Given the description of an element on the screen output the (x, y) to click on. 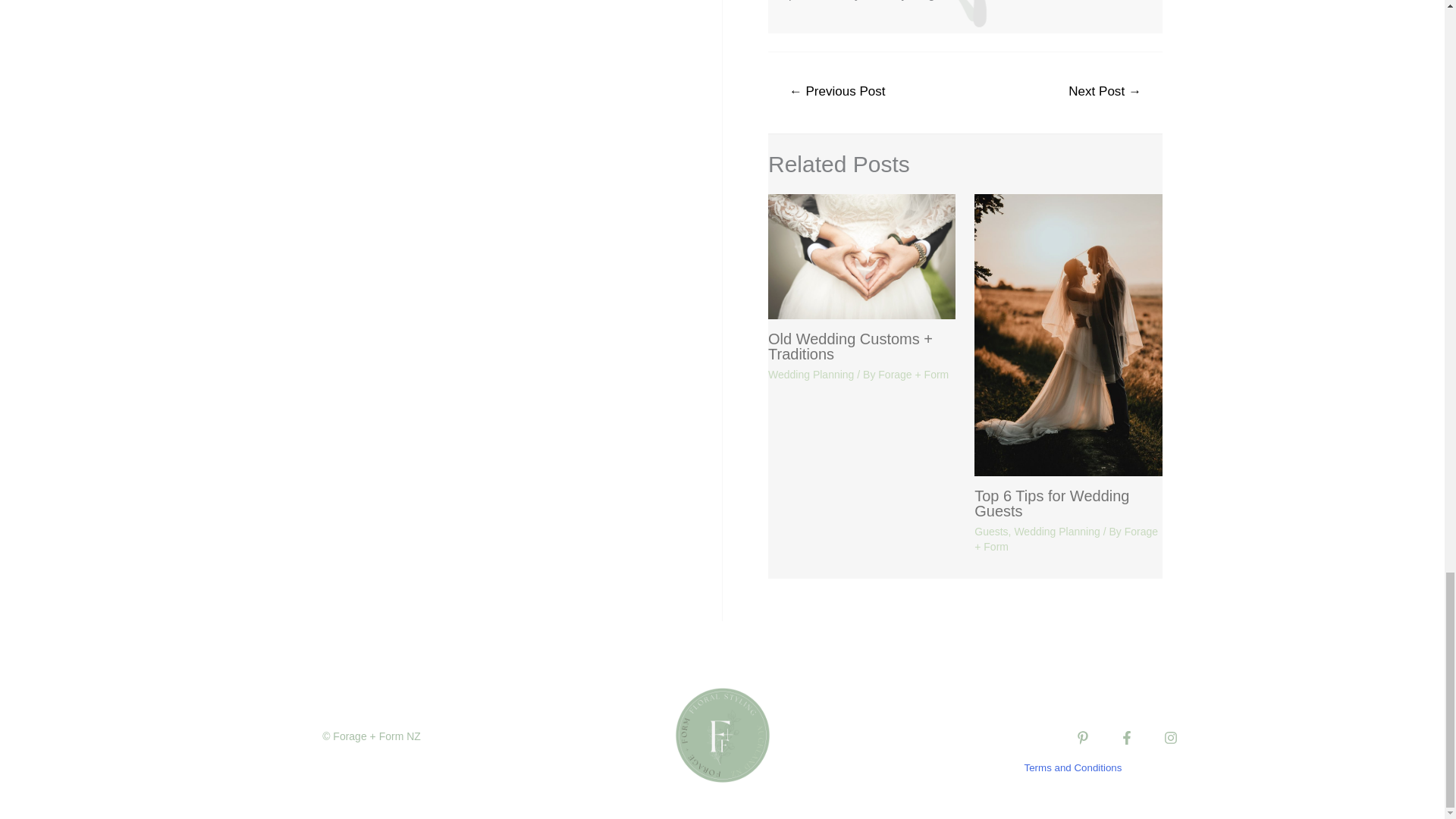
Wedding Planning (810, 374)
